Given the description of an element on the screen output the (x, y) to click on. 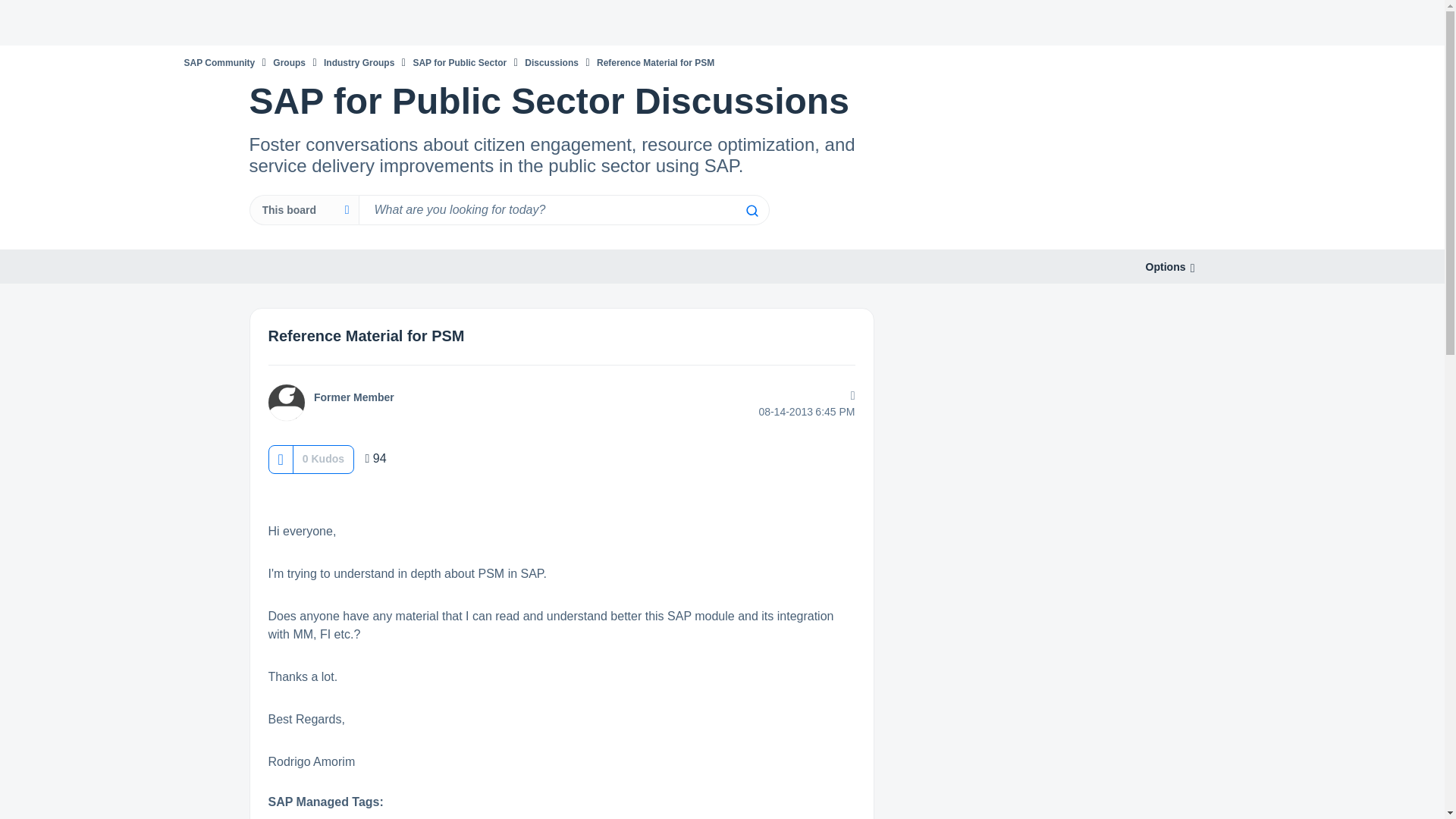
SAP for Public Sector (459, 62)
Groups (289, 62)
Industry Groups (358, 62)
The total number of kudos this post has received. (323, 458)
Search (563, 209)
Discussions (551, 62)
Options (1165, 266)
Search (750, 210)
SAP Community (218, 62)
Show option menu (1165, 266)
Search (750, 210)
Search Granularity (303, 209)
Search (750, 210)
Click here to give kudos to this post. (279, 458)
